Given the description of an element on the screen output the (x, y) to click on. 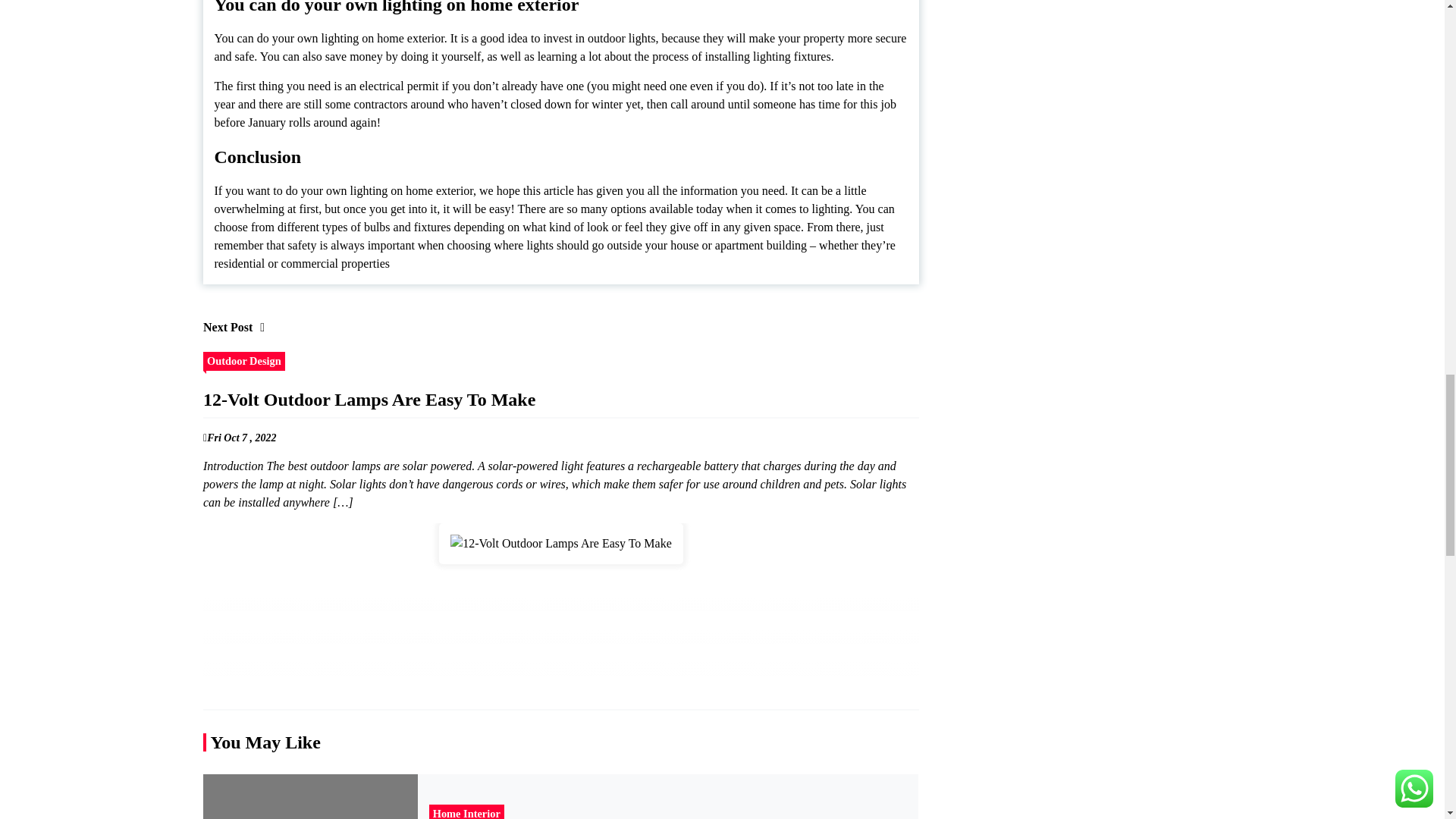
12-Volt Outdoor Lamps Are Easy To Make (560, 543)
